Given the description of an element on the screen output the (x, y) to click on. 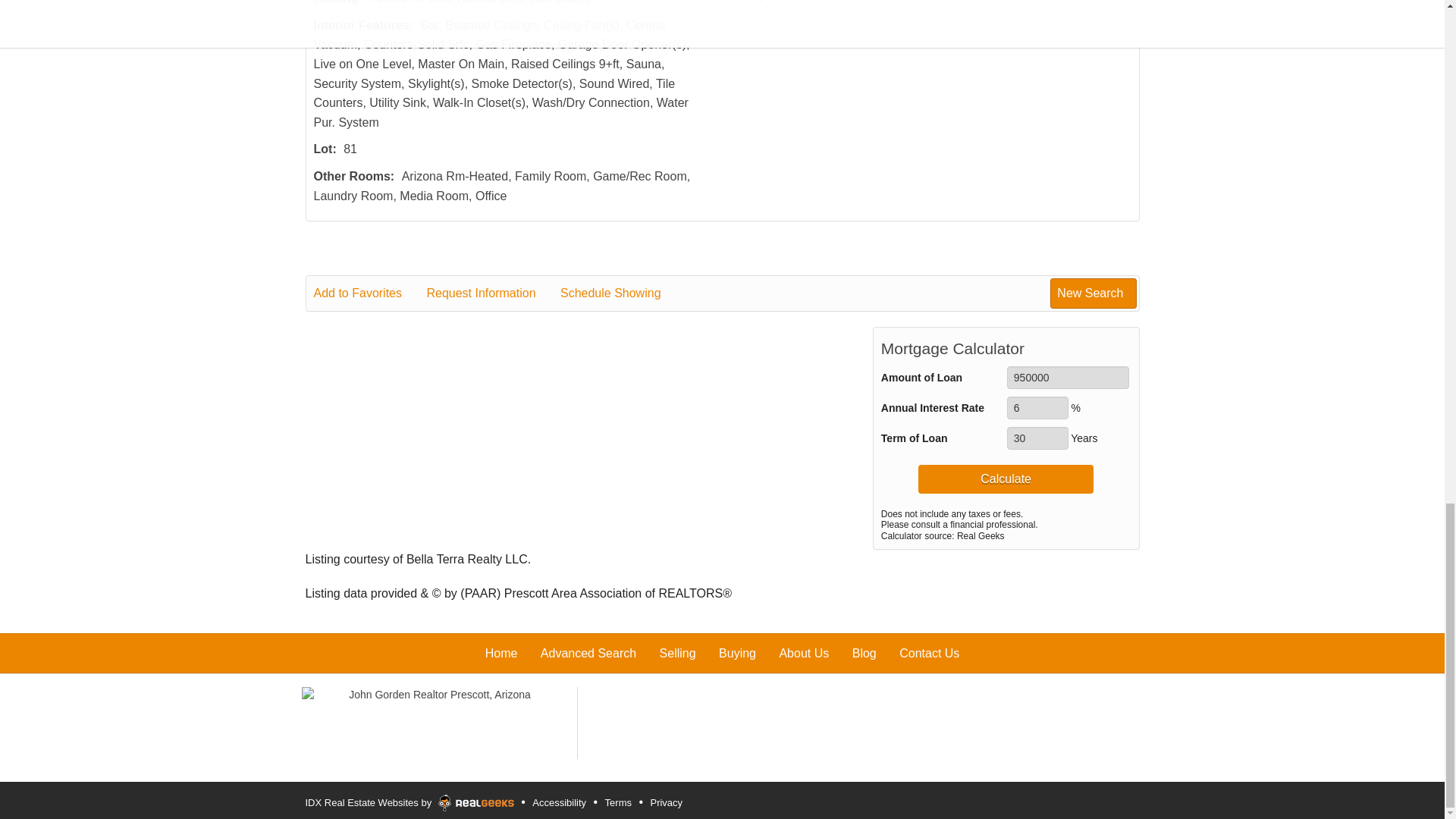
6 (1037, 407)
30 (1037, 437)
950000 (1068, 377)
